Given the description of an element on the screen output the (x, y) to click on. 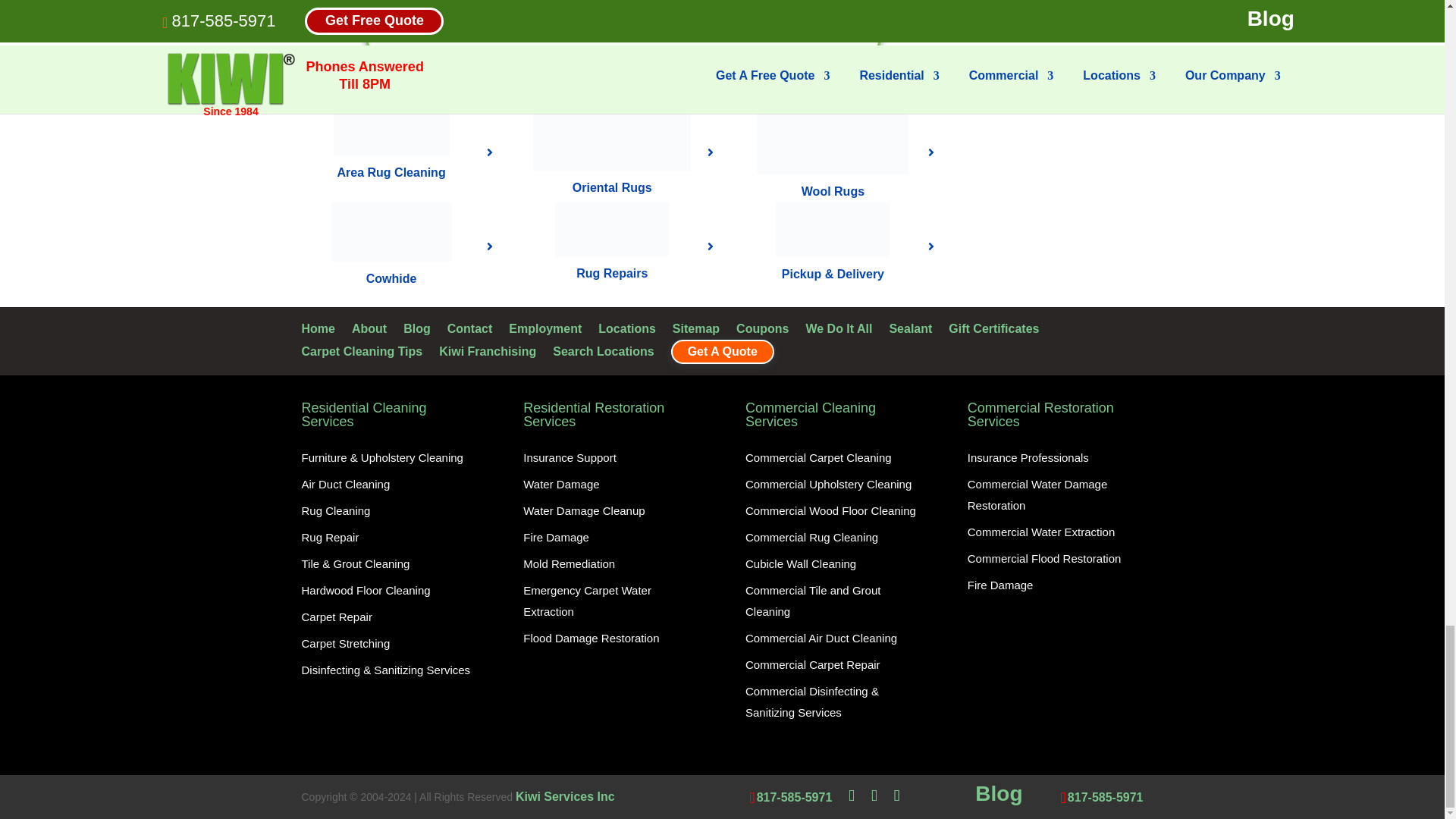
Area Rug Cleaning (391, 128)
Cowhide (391, 231)
Wool Rugs (832, 138)
Rug Repairs (611, 229)
Oriental Rugs (611, 136)
